Given the description of an element on the screen output the (x, y) to click on. 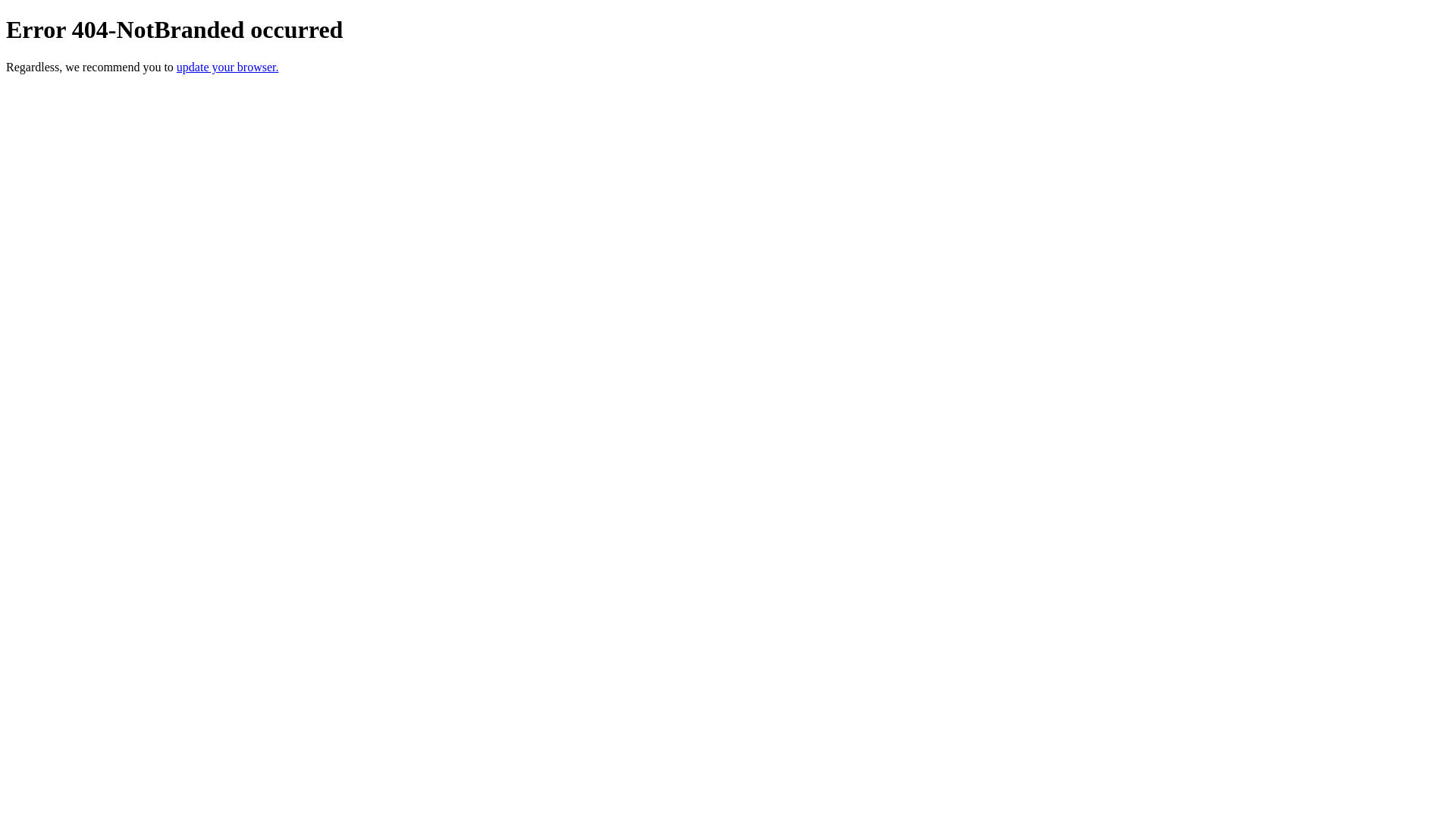
update your browser. Element type: text (227, 66)
